Given the description of an element on the screen output the (x, y) to click on. 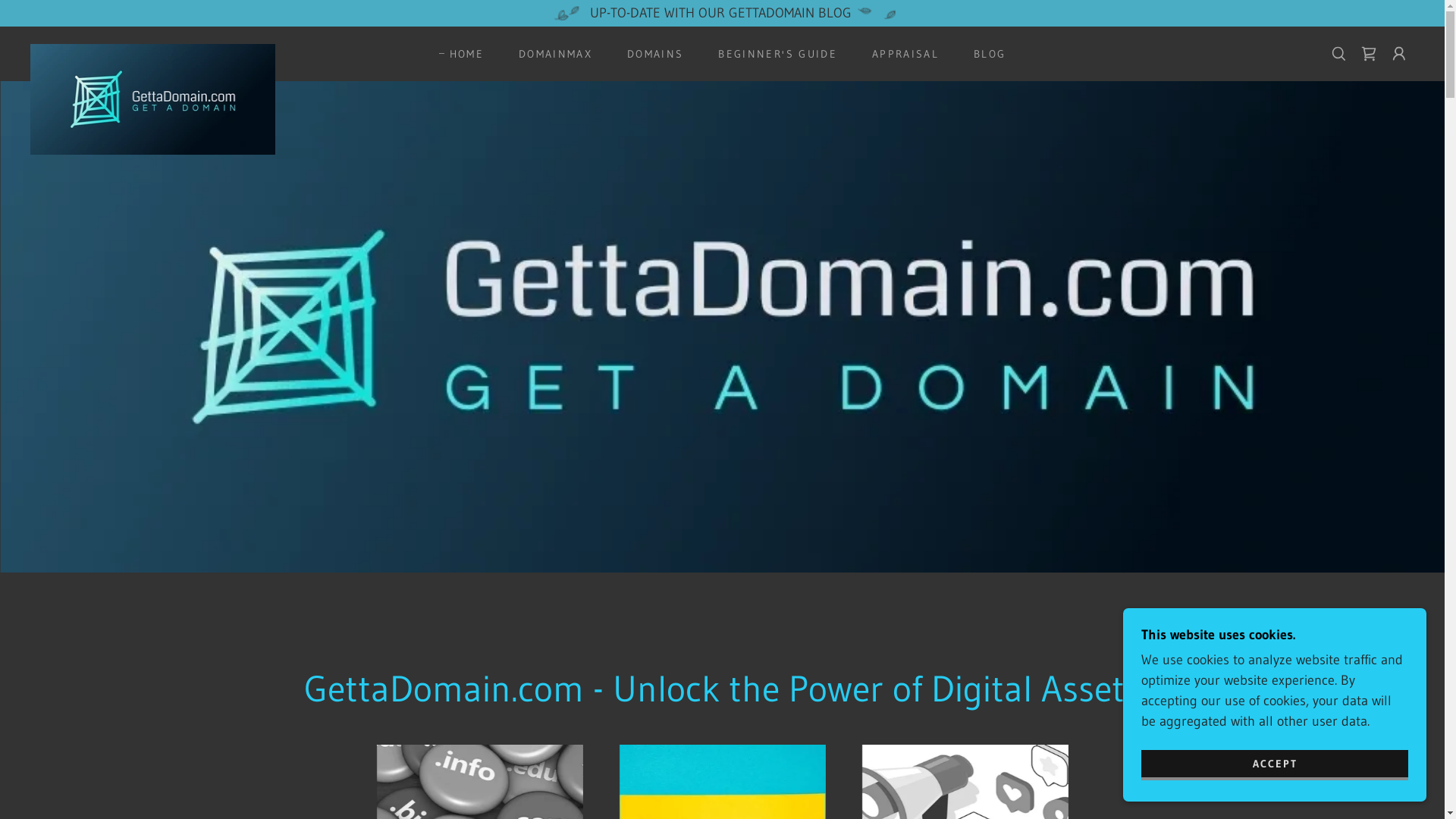
BLOG Element type: text (984, 53)
HOME Element type: text (461, 53)
ACCEPT Element type: text (1274, 764)
APPRAISAL Element type: text (899, 53)
DOMAINS Element type: text (649, 53)
BEGINNER'S GUIDE Element type: text (771, 53)
GettaDomain.com Element type: hover (152, 50)
DOMAINMAX Element type: text (549, 53)
UP-TO-DATE WITH OUR GETTADOMAIN BLOG Element type: text (722, 13)
